Given the description of an element on the screen output the (x, y) to click on. 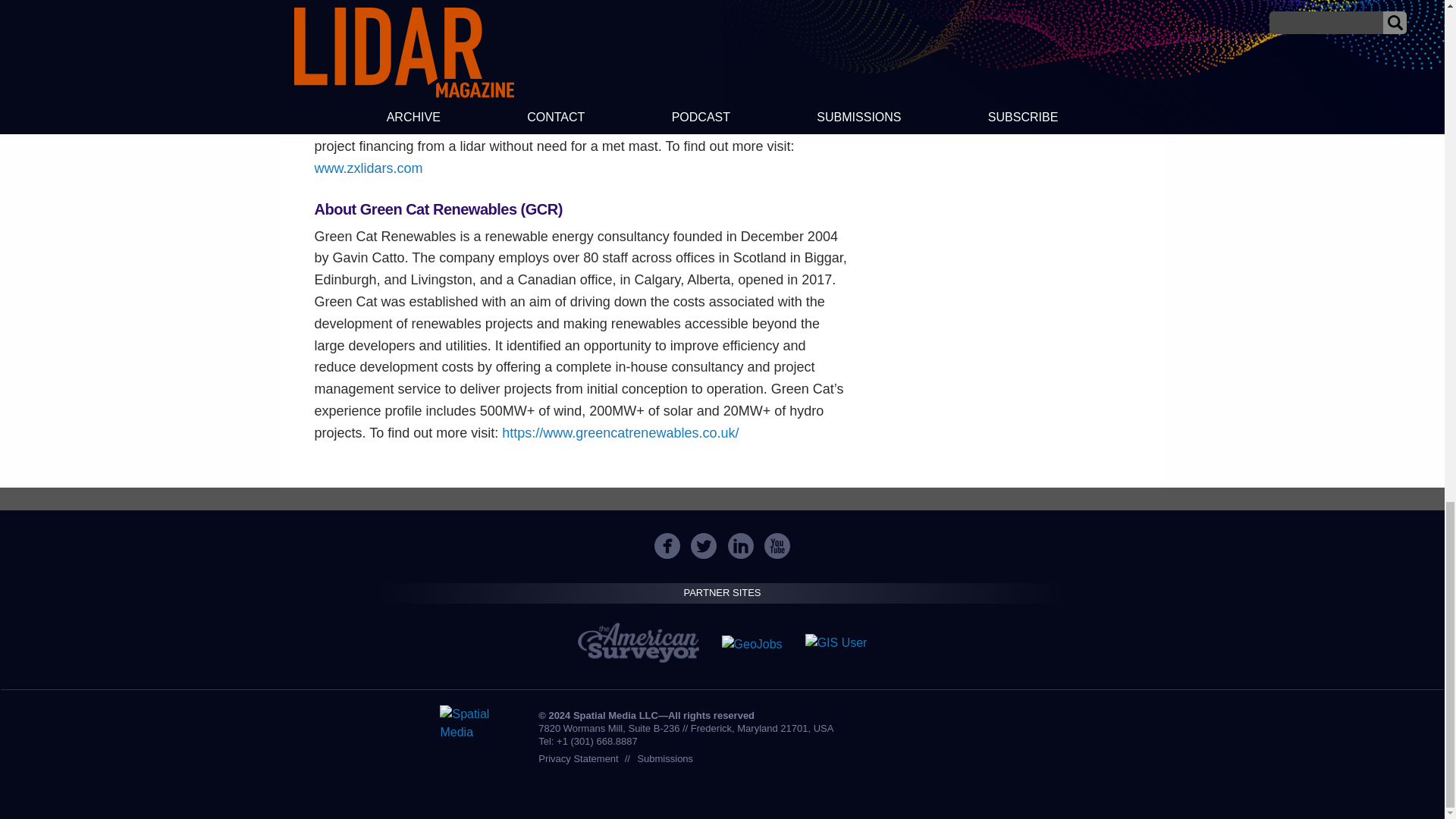
icon-sm-twitter (703, 545)
icon-sm-fb (667, 545)
icon-sm-twitter (703, 545)
icon-sm-linkedin (741, 545)
www.zxlidars.com (368, 168)
icon-sm-youtube (777, 545)
Submissions (665, 758)
icon-sm-linkedin (740, 545)
SUBSCRIBE (1001, 3)
Privacy Statement (578, 758)
